Given the description of an element on the screen output the (x, y) to click on. 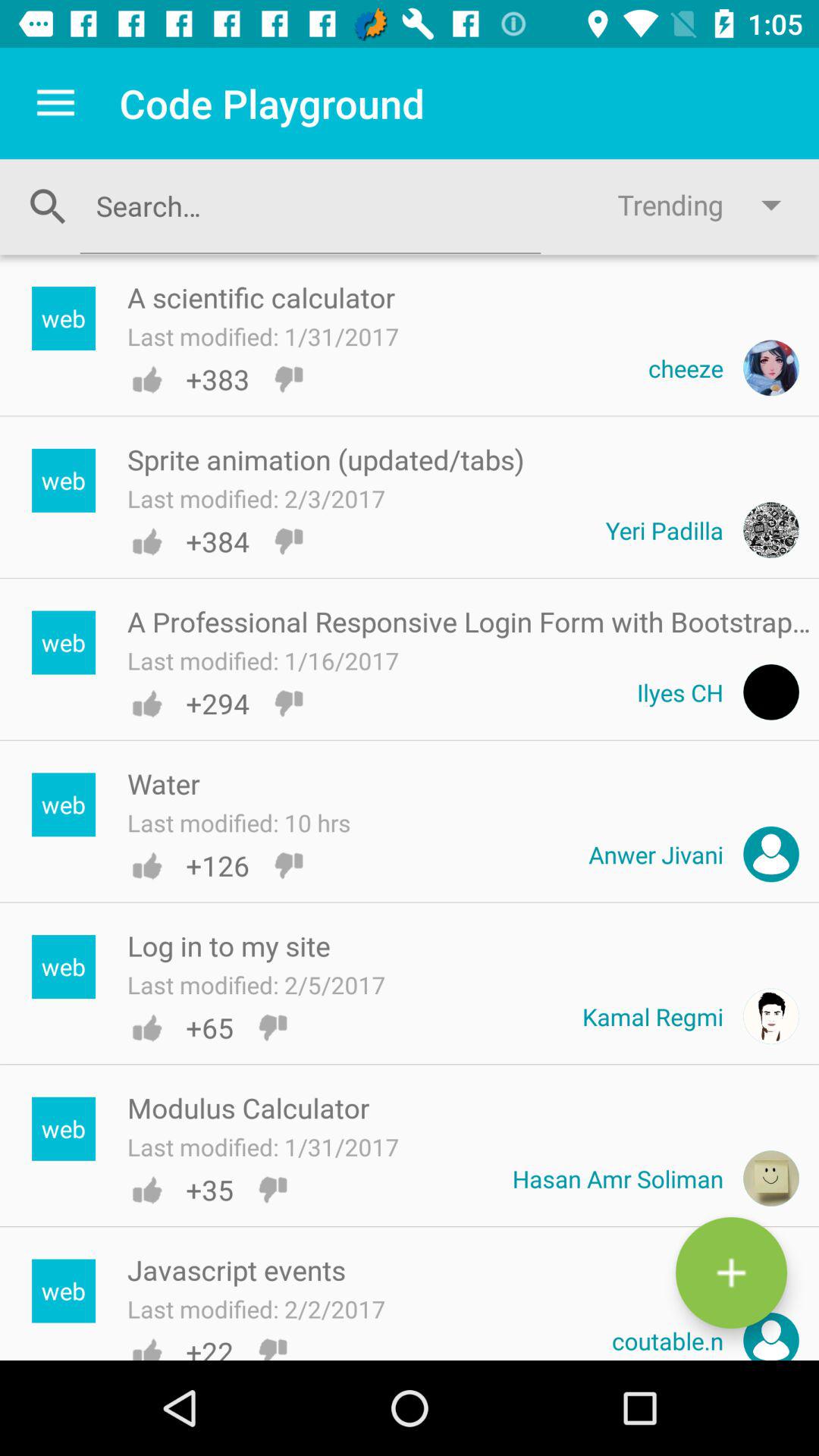
search (310, 205)
